Given the description of an element on the screen output the (x, y) to click on. 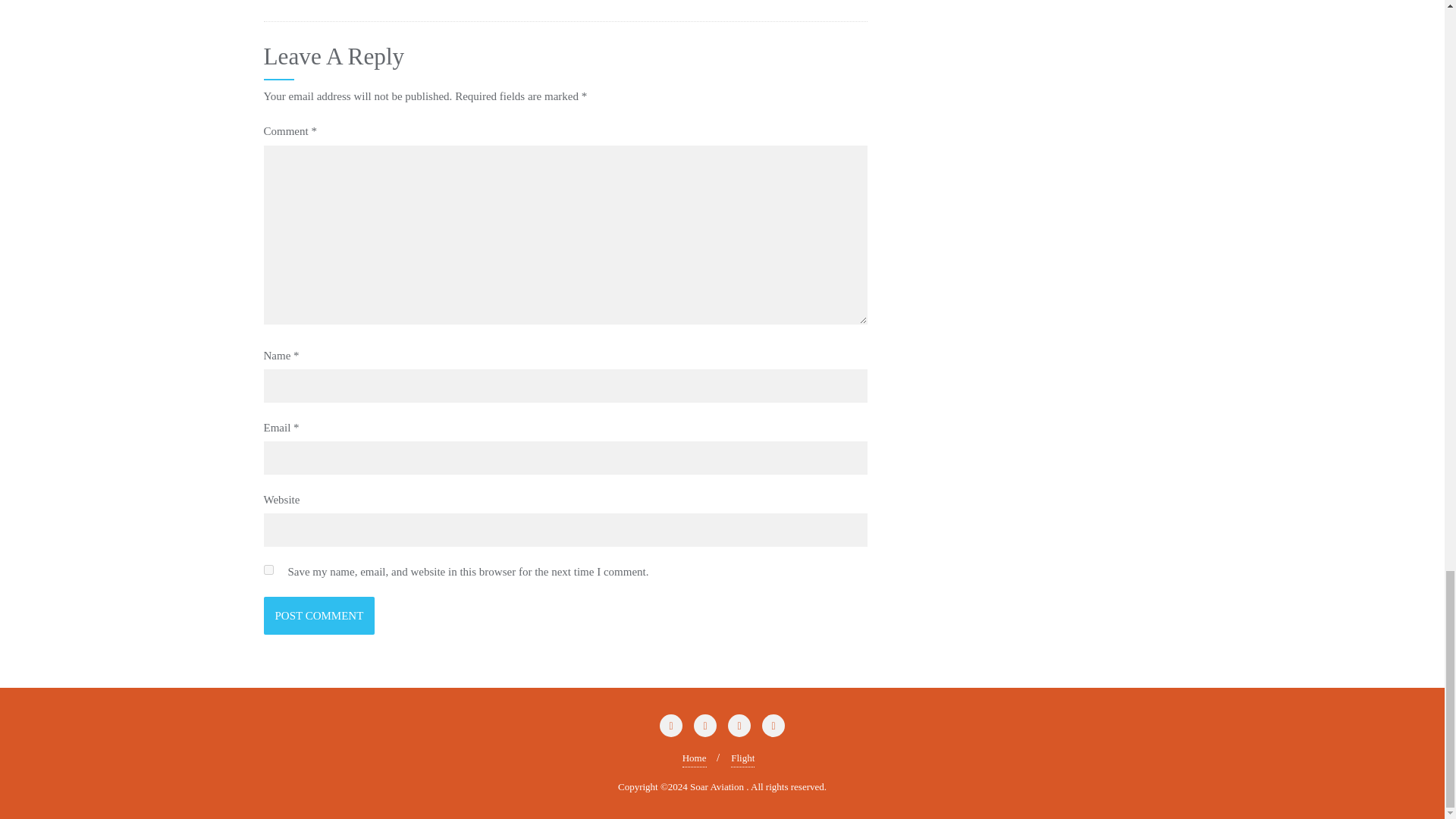
Post Comment (319, 615)
Flight (742, 758)
yes (268, 569)
Home (694, 758)
Post Comment (319, 615)
